Given the description of an element on the screen output the (x, y) to click on. 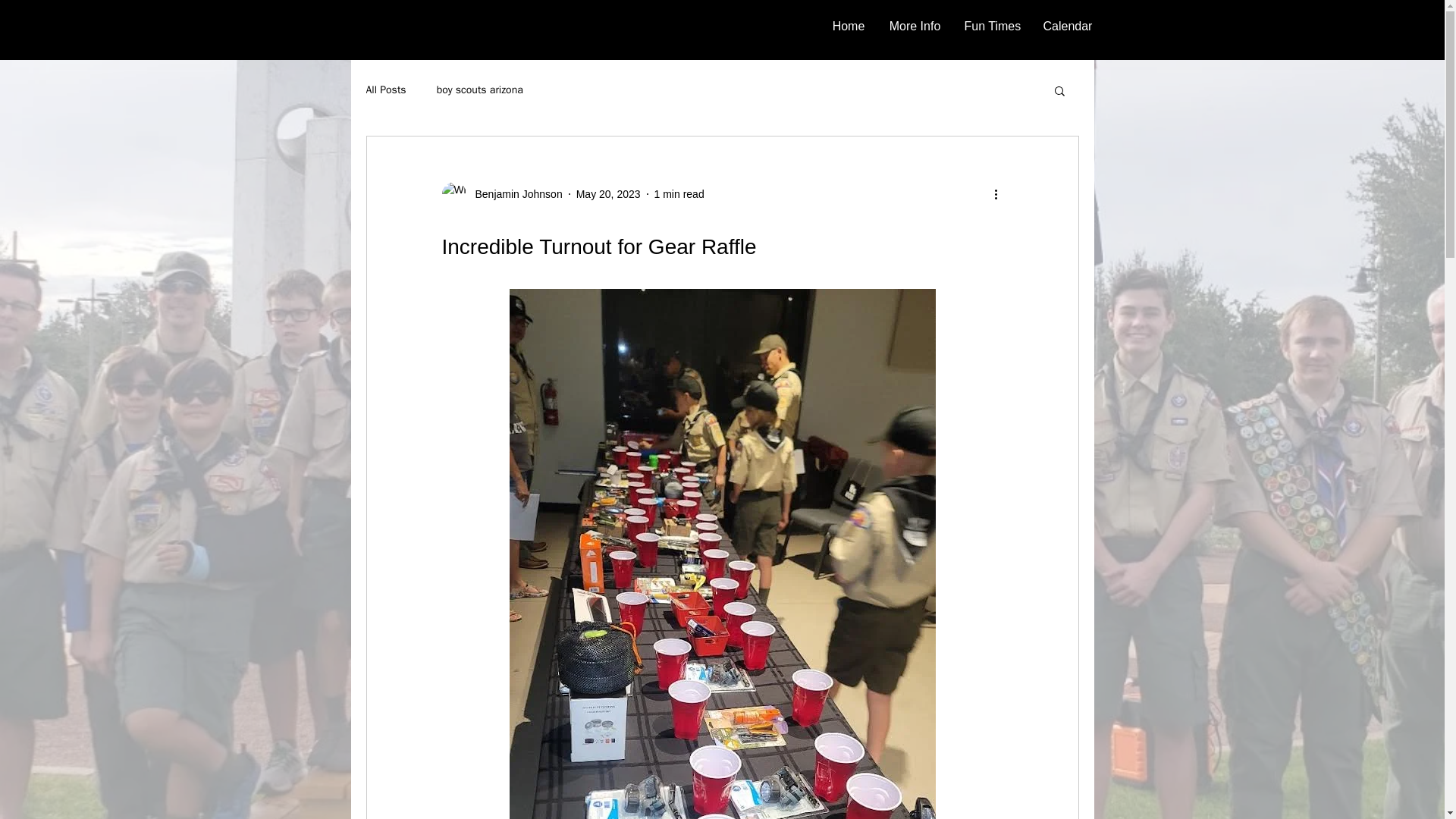
All Posts (385, 90)
Calendar (1066, 25)
Benjamin Johnson (501, 193)
boy scouts arizona (479, 90)
Fun Times (991, 25)
Home (849, 25)
May 20, 2023 (608, 193)
1 min read (678, 193)
Benjamin Johnson (513, 194)
